Given the description of an element on the screen output the (x, y) to click on. 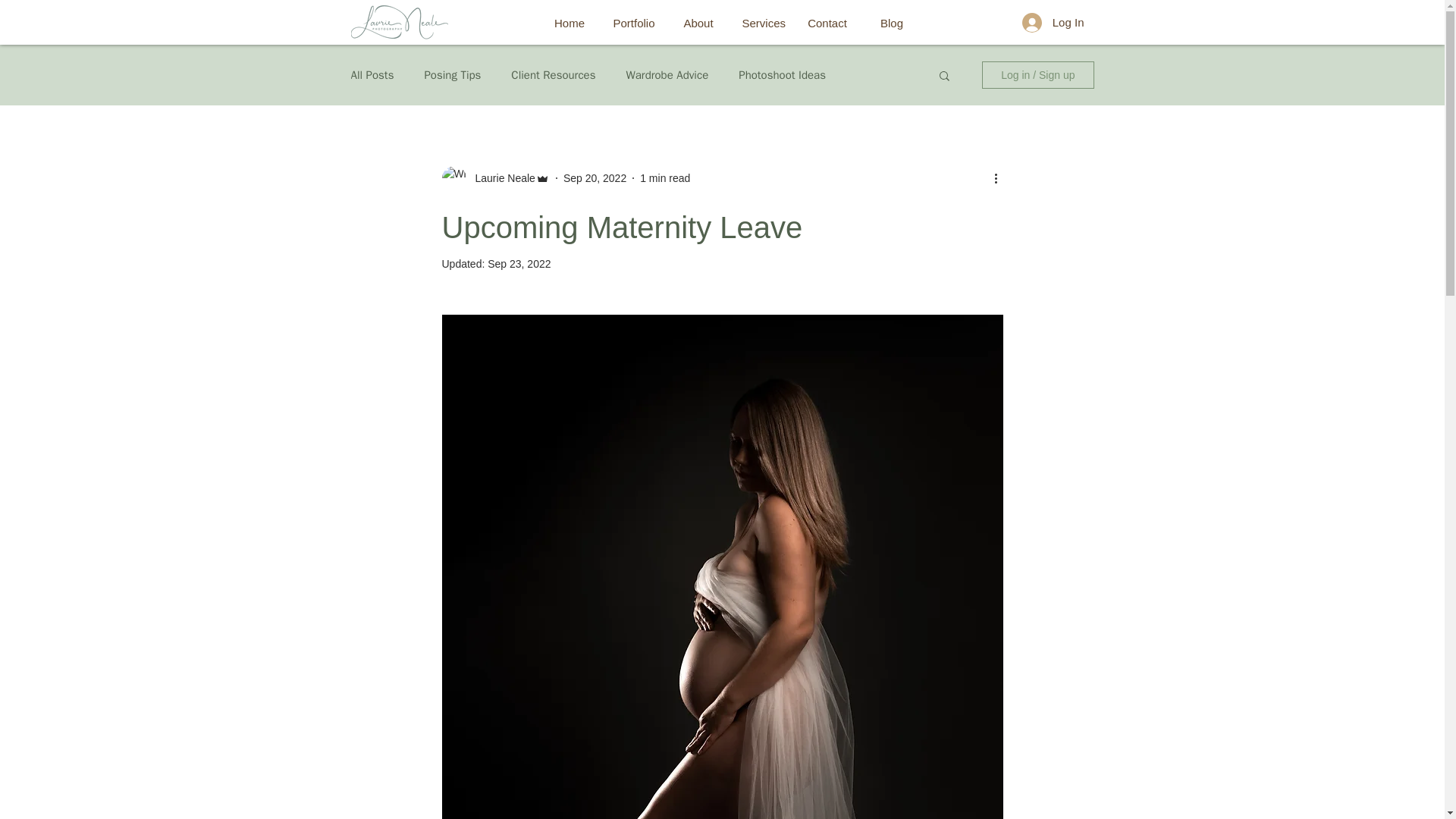
Sep 23, 2022 (518, 263)
Log In (1052, 21)
Portfolio (634, 22)
1 min read (665, 177)
Blog (892, 22)
Client Resources (553, 74)
Laurie Neale (499, 177)
Wardrobe Advice (666, 74)
Photoshoot Ideas (781, 74)
Home (569, 22)
Services (762, 22)
Laurie Neale (494, 178)
Contact (826, 22)
About (697, 22)
Posing Tips (451, 74)
